Given the description of an element on the screen output the (x, y) to click on. 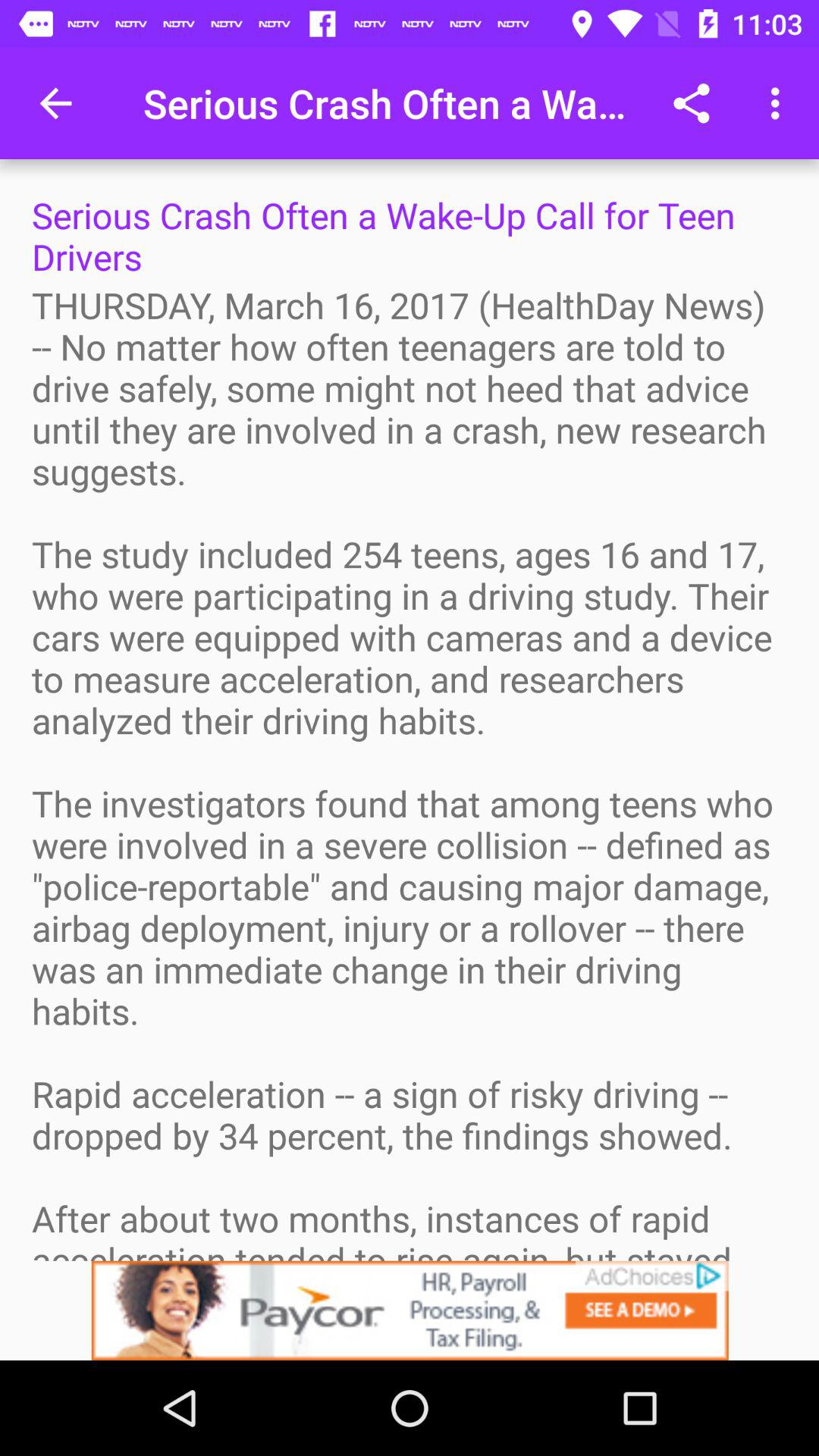
click to view advertisement (409, 1310)
